Given the description of an element on the screen output the (x, y) to click on. 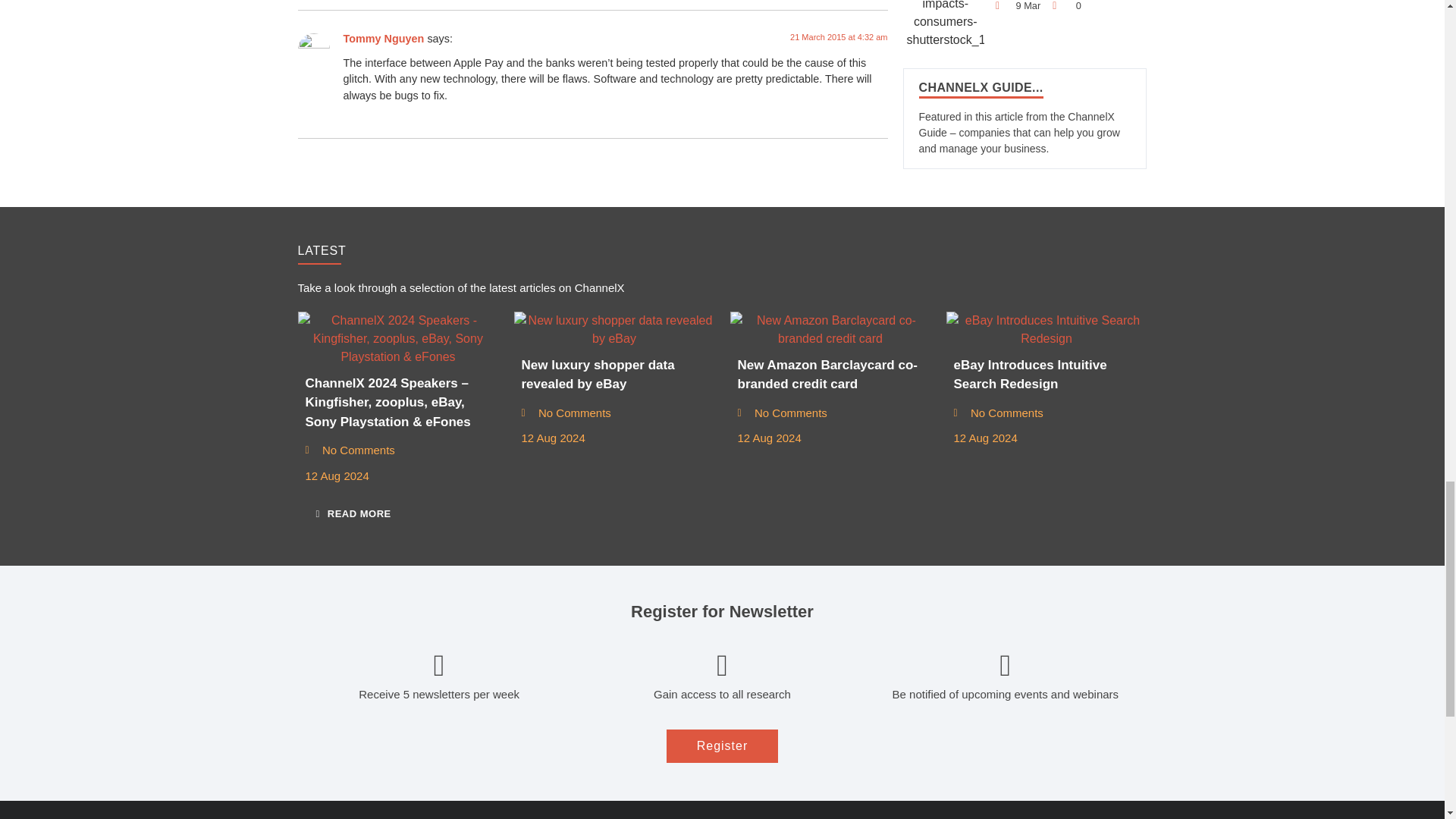
eBay Introduces Intuitive Search Redesign (1046, 330)
New Amazon Barclaycard co-branded credit card (829, 330)
New luxury shopper data revealed by eBay (613, 330)
